Given the description of an element on the screen output the (x, y) to click on. 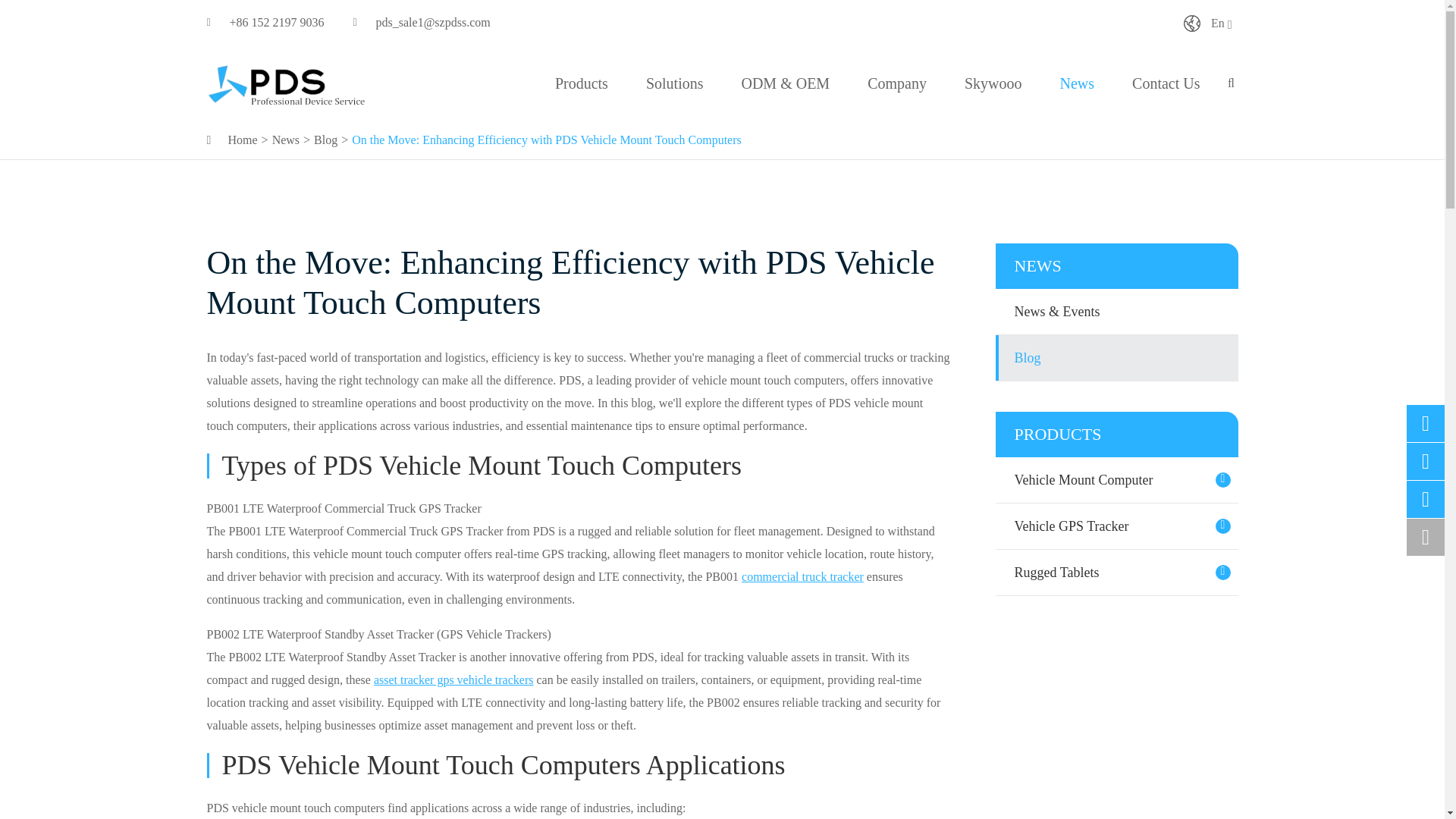
News (285, 139)
En (1191, 23)
Shenzhen PDS Technology Co.,Ltd. (286, 83)
Blog (325, 139)
En (1209, 22)
